Given the description of an element on the screen output the (x, y) to click on. 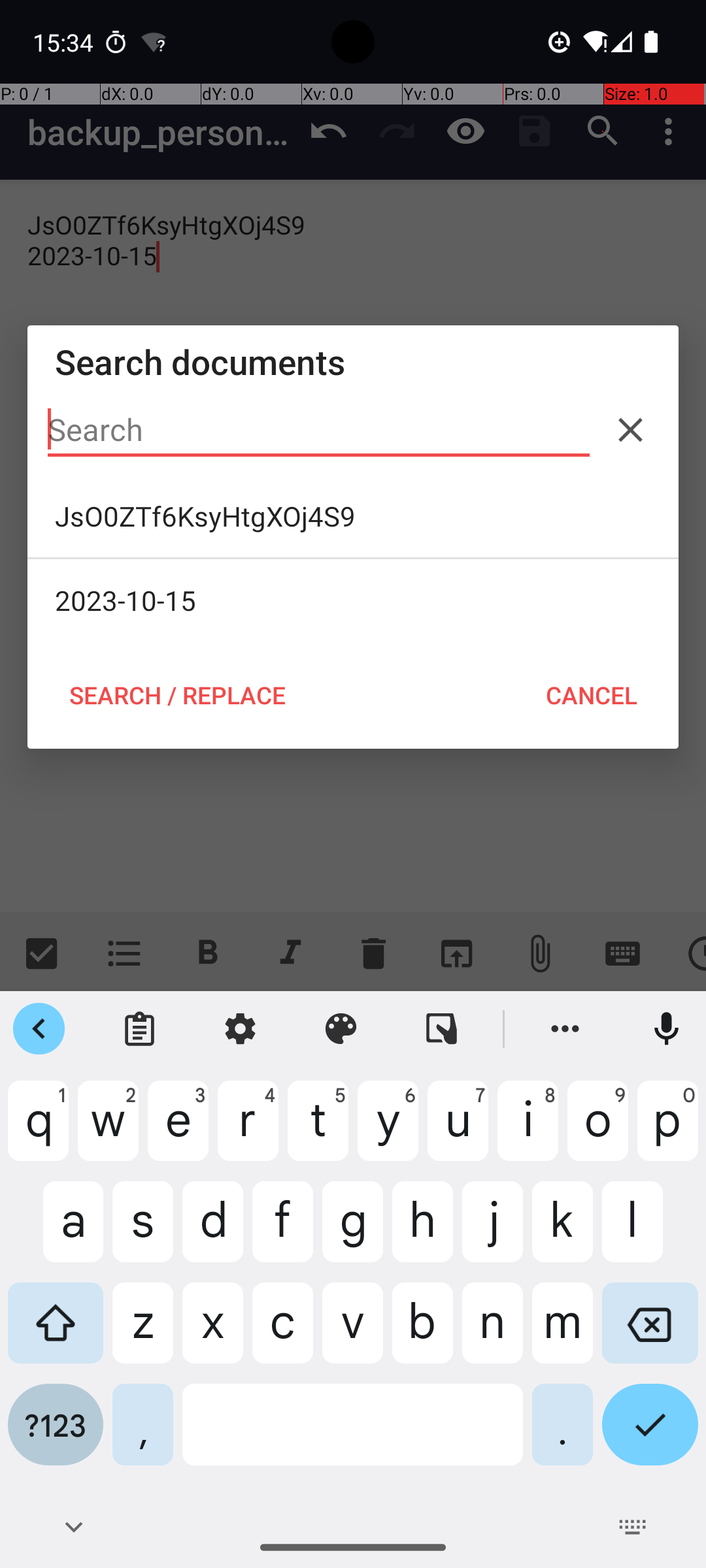
JsO0ZTf6KsyHtgXOj4S9 Element type: android.widget.TextView (352, 515)
2023-10-15 Element type: android.widget.TextView (352, 600)
